Given the description of an element on the screen output the (x, y) to click on. 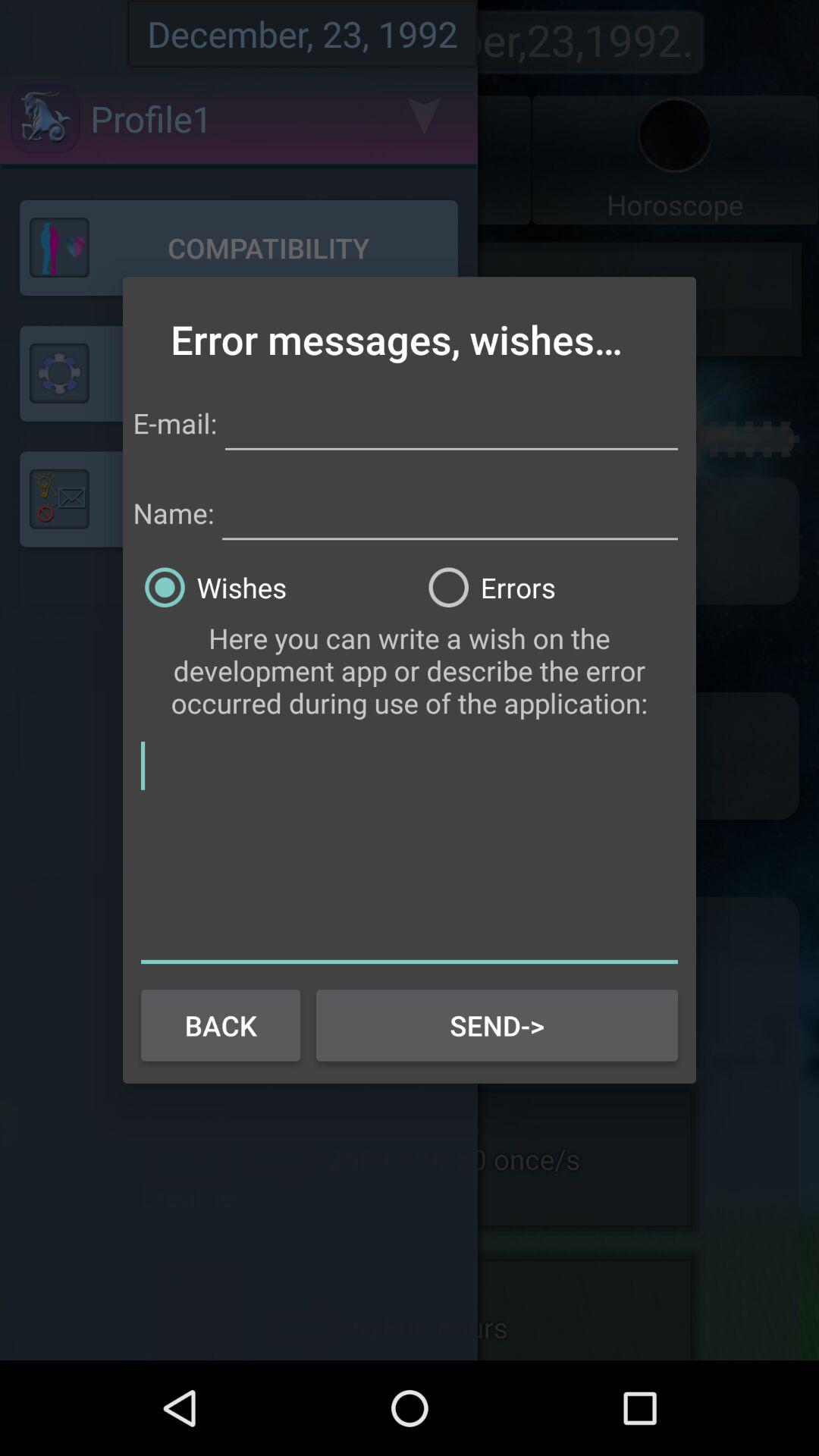
selects the field to put in your email address (451, 420)
